Given the description of an element on the screen output the (x, y) to click on. 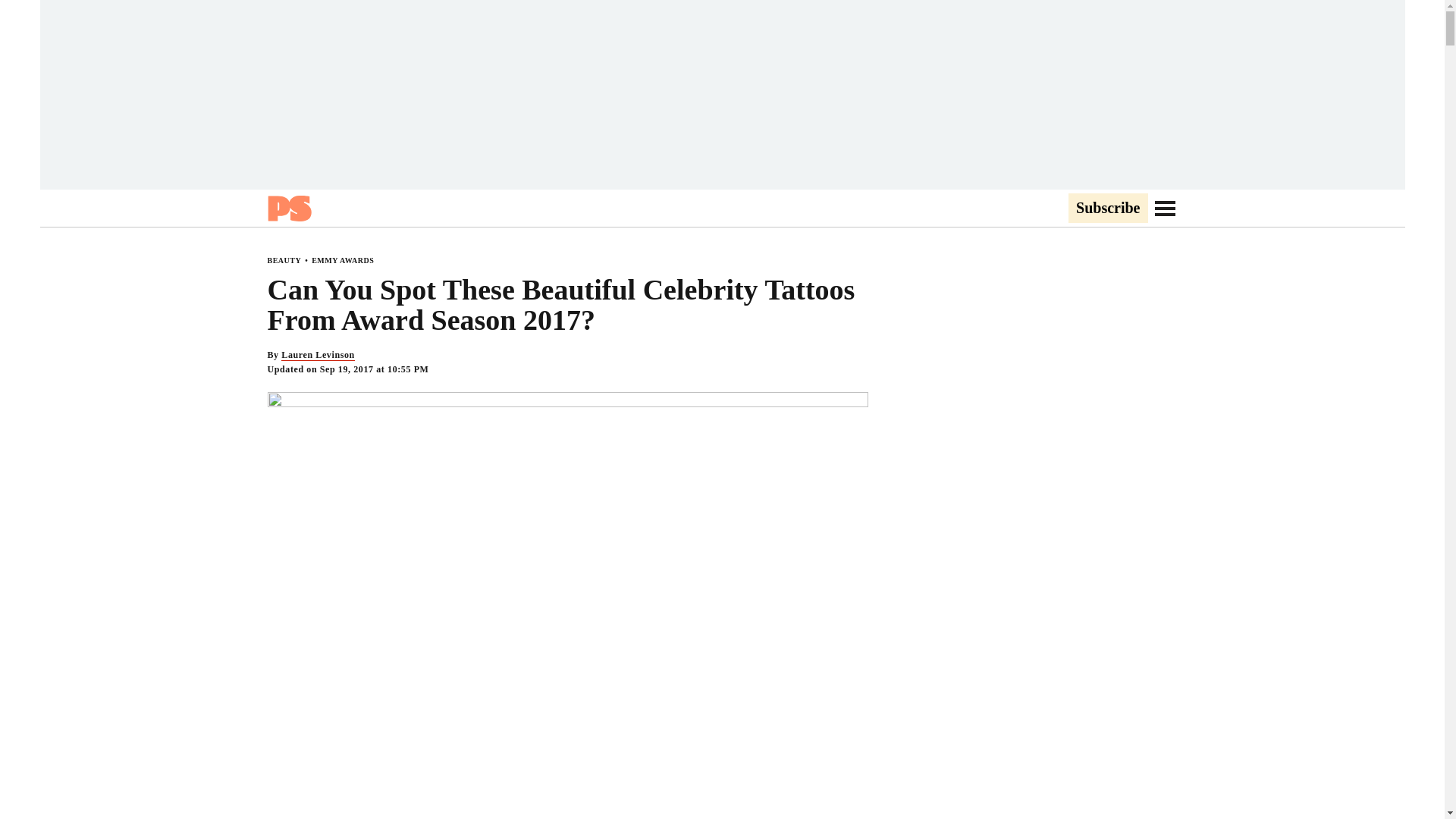
Subscribe (1107, 208)
Popsugar (288, 208)
Lauren Levinson (317, 355)
Go to Navigation (1164, 207)
Go to Navigation (1164, 207)
EMMY AWARDS (342, 260)
BEAUTY (283, 260)
